Given the description of an element on the screen output the (x, y) to click on. 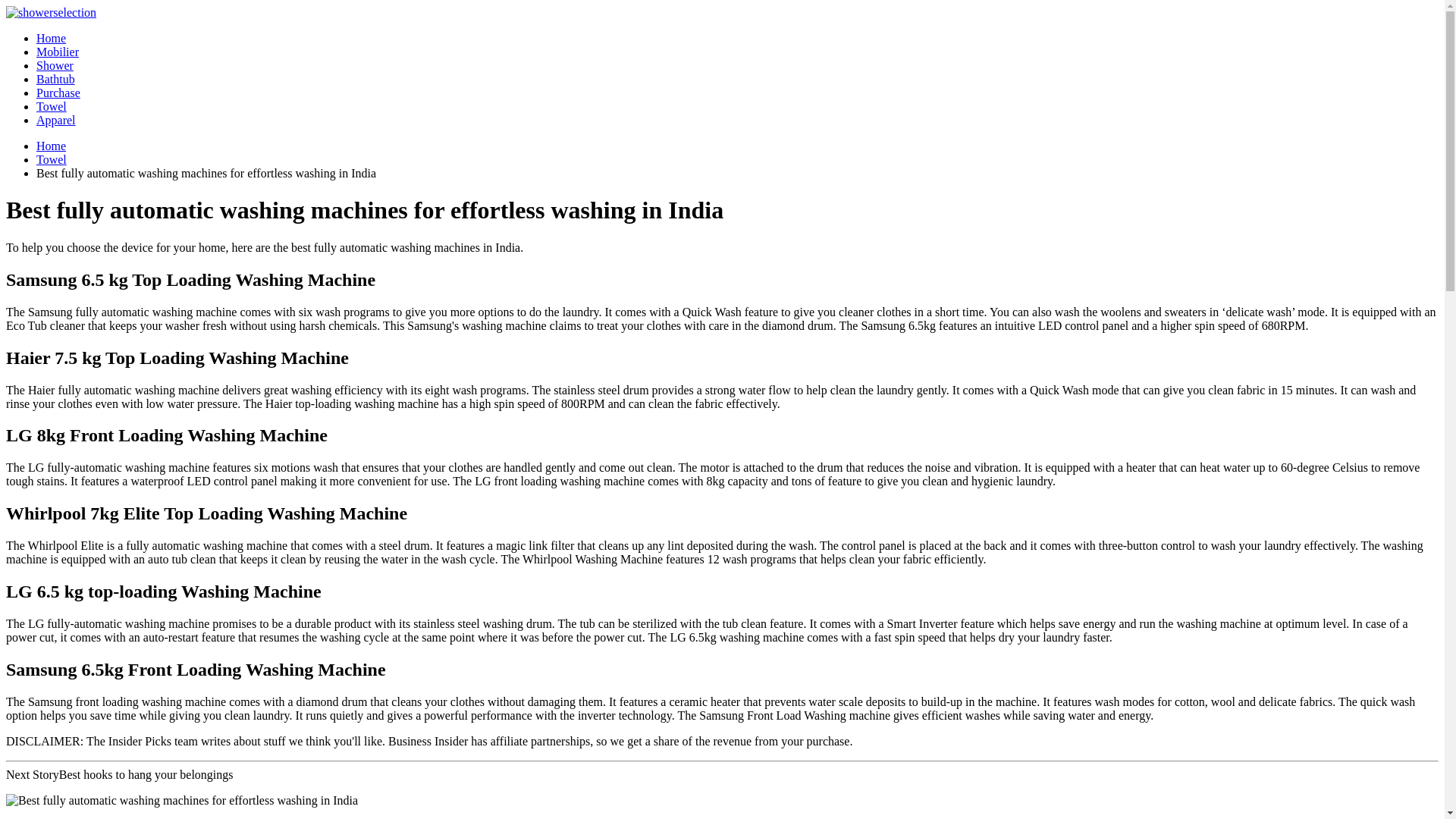
Home (50, 145)
Home (50, 38)
Purchase (58, 92)
Bathtub (55, 78)
Towel (51, 106)
Towel (51, 106)
Apparel (55, 119)
Shower (55, 65)
Towel (51, 159)
